Given the description of an element on the screen output the (x, y) to click on. 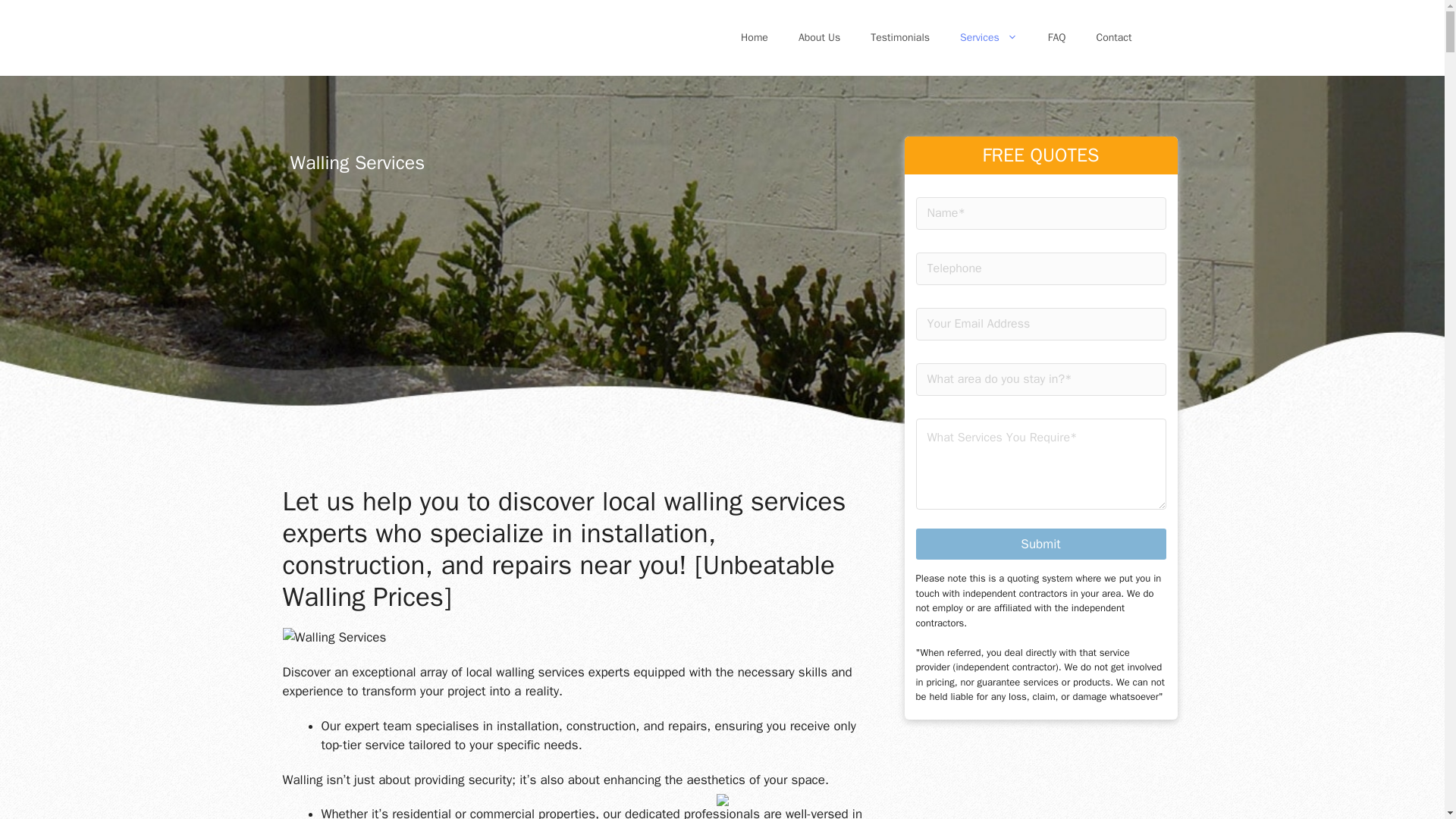
About Us (819, 37)
Contact (1114, 37)
Services (988, 37)
Home (754, 37)
Testimonials (900, 37)
Submit (721, 801)
FAQ (1040, 543)
